Given the description of an element on the screen output the (x, y) to click on. 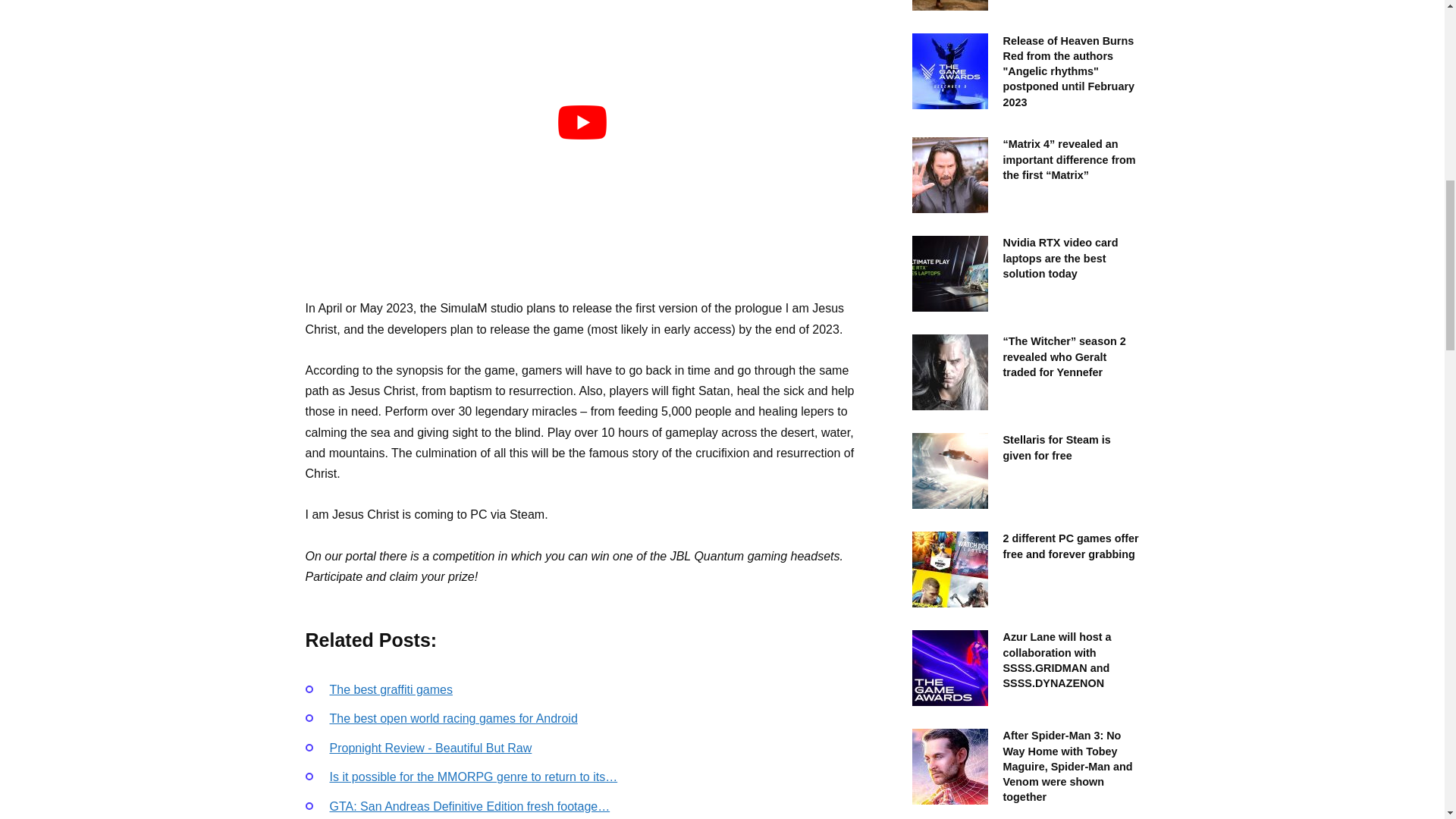
The best open world racing games for Android (452, 717)
The best graffiti games (390, 689)
Propnight Review - Beautiful But Raw (430, 748)
